Given the description of an element on the screen output the (x, y) to click on. 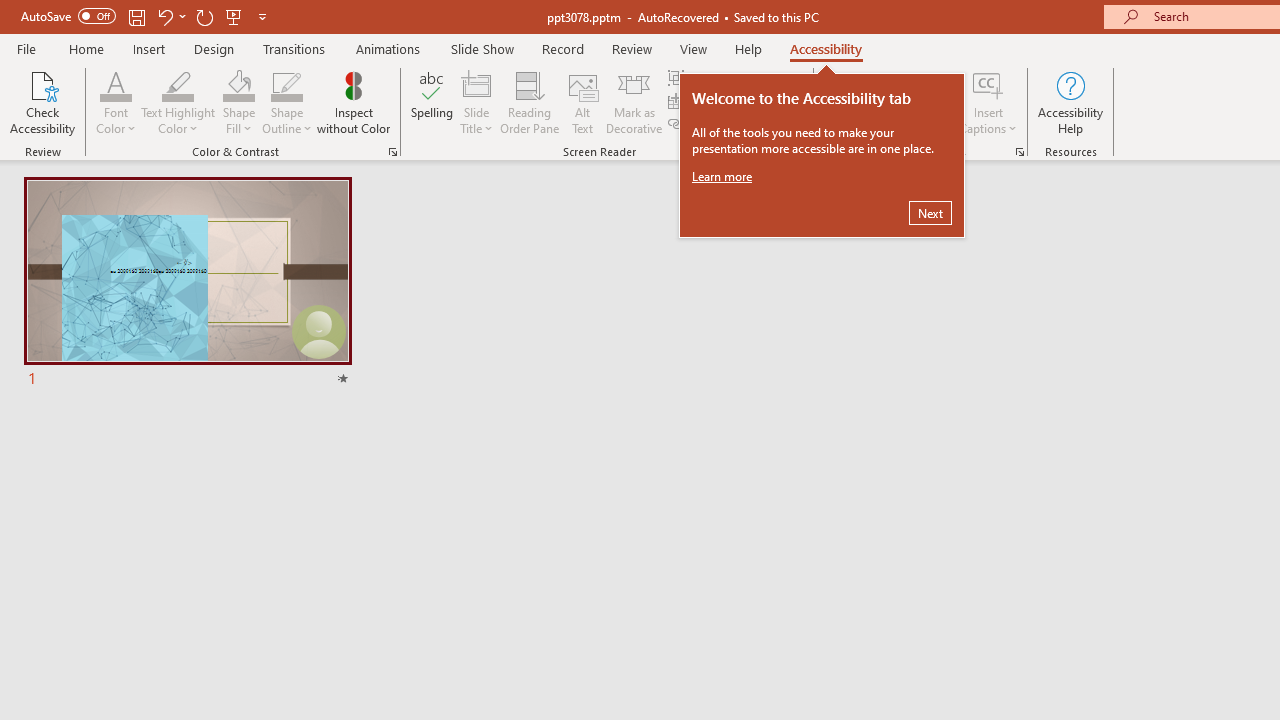
Insert Header Row (735, 101)
Insert Captions (988, 84)
Slide Title (476, 84)
Check Accessibility (42, 102)
Shape Fill (238, 84)
Reading Order Pane (529, 102)
